Given the description of an element on the screen output the (x, y) to click on. 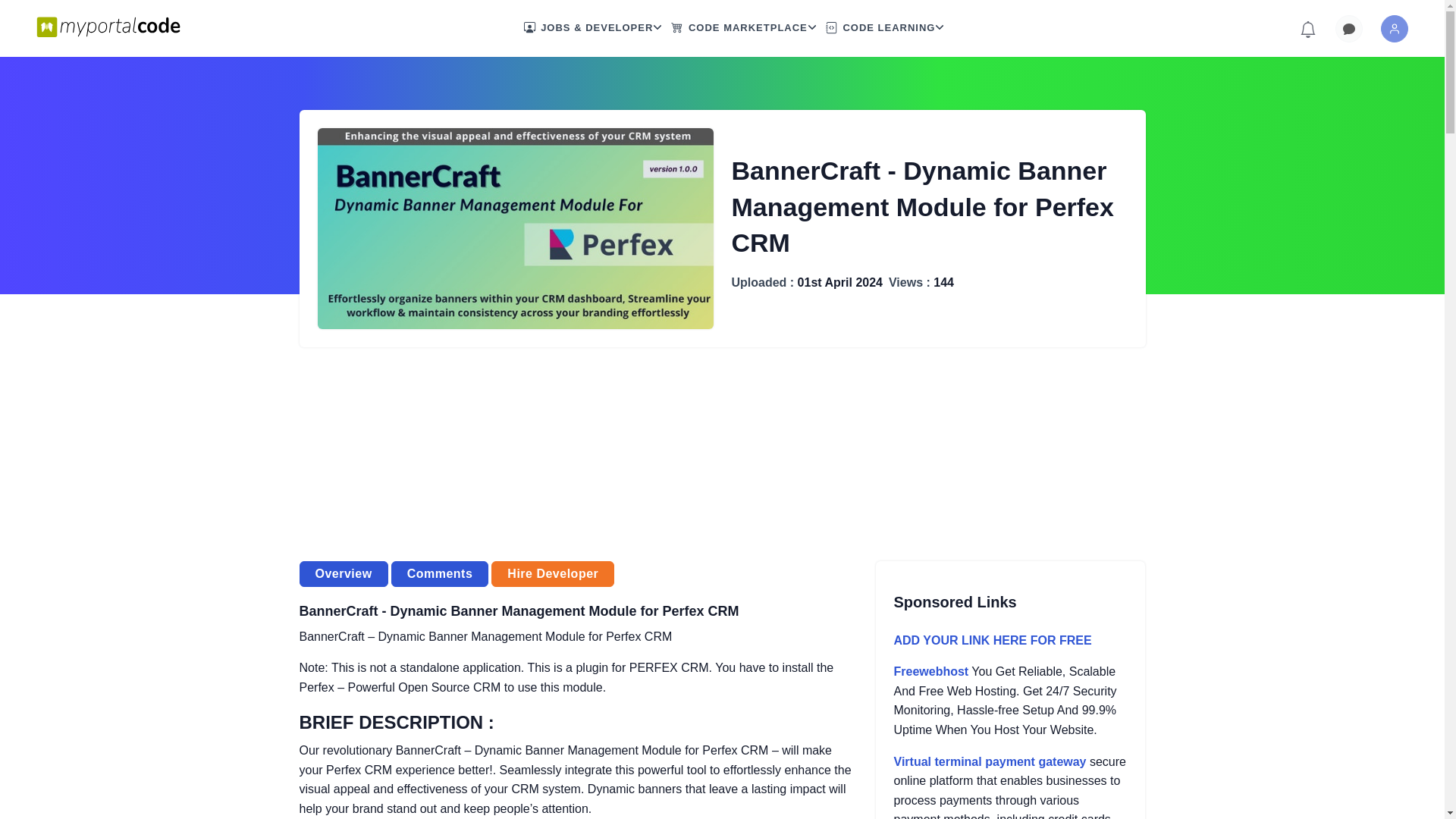
Hire Developer (553, 574)
CODE MARKETPLACE (738, 28)
Overview (342, 574)
Chat (1348, 28)
Hire Developer (553, 574)
Comments (440, 574)
Overview (342, 574)
Notifications (1307, 28)
CODE LEARNING (880, 28)
Comments (440, 574)
